Given the description of an element on the screen output the (x, y) to click on. 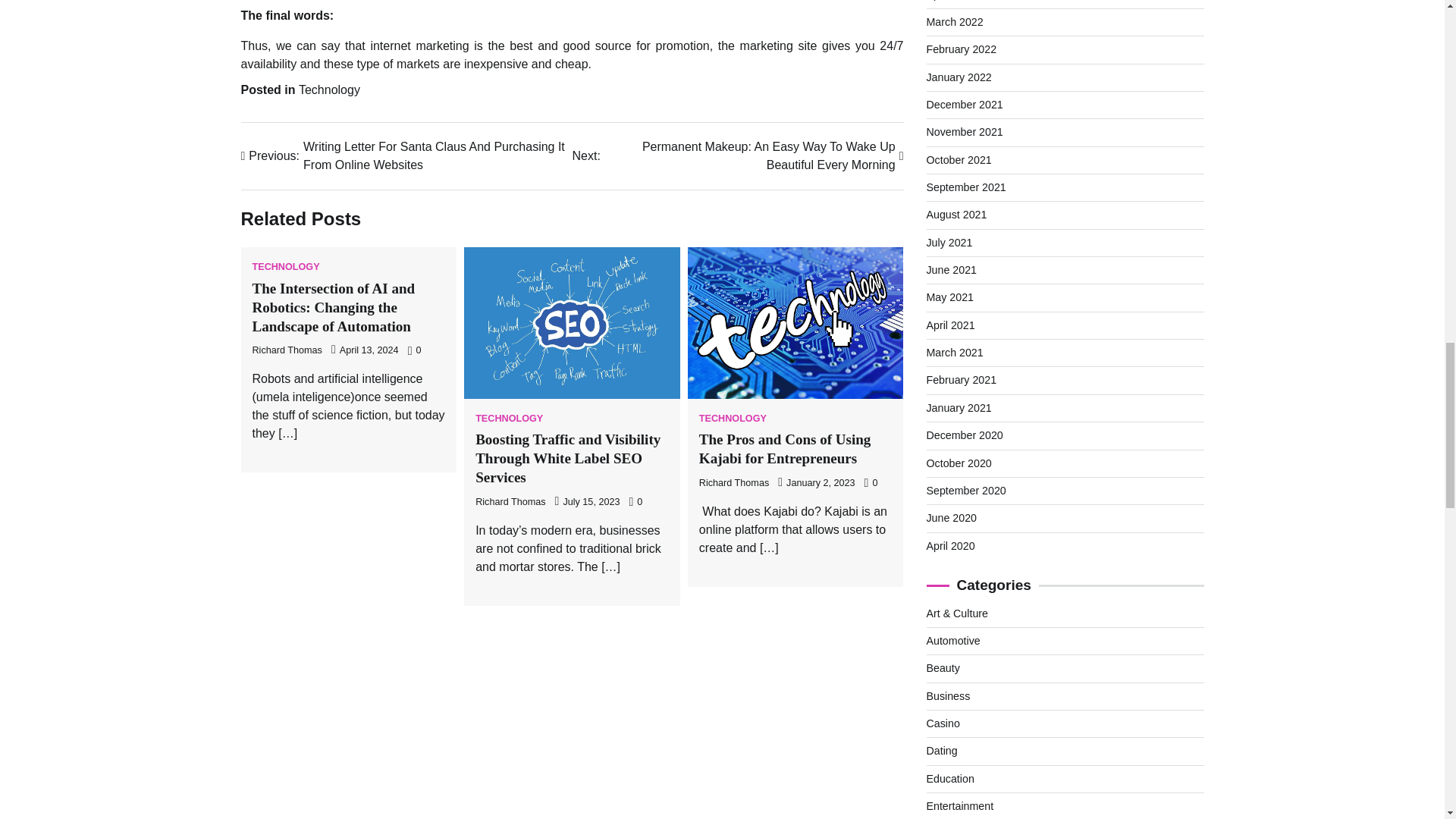
The Pros and Cons of Using Kajabi for Entrepreneurs (784, 448)
Richard Thomas (733, 482)
TECHNOLOGY (284, 266)
Technology (328, 89)
TECHNOLOGY (732, 419)
TECHNOLOGY (509, 419)
Richard Thomas (286, 349)
Richard Thomas (510, 501)
